Given the description of an element on the screen output the (x, y) to click on. 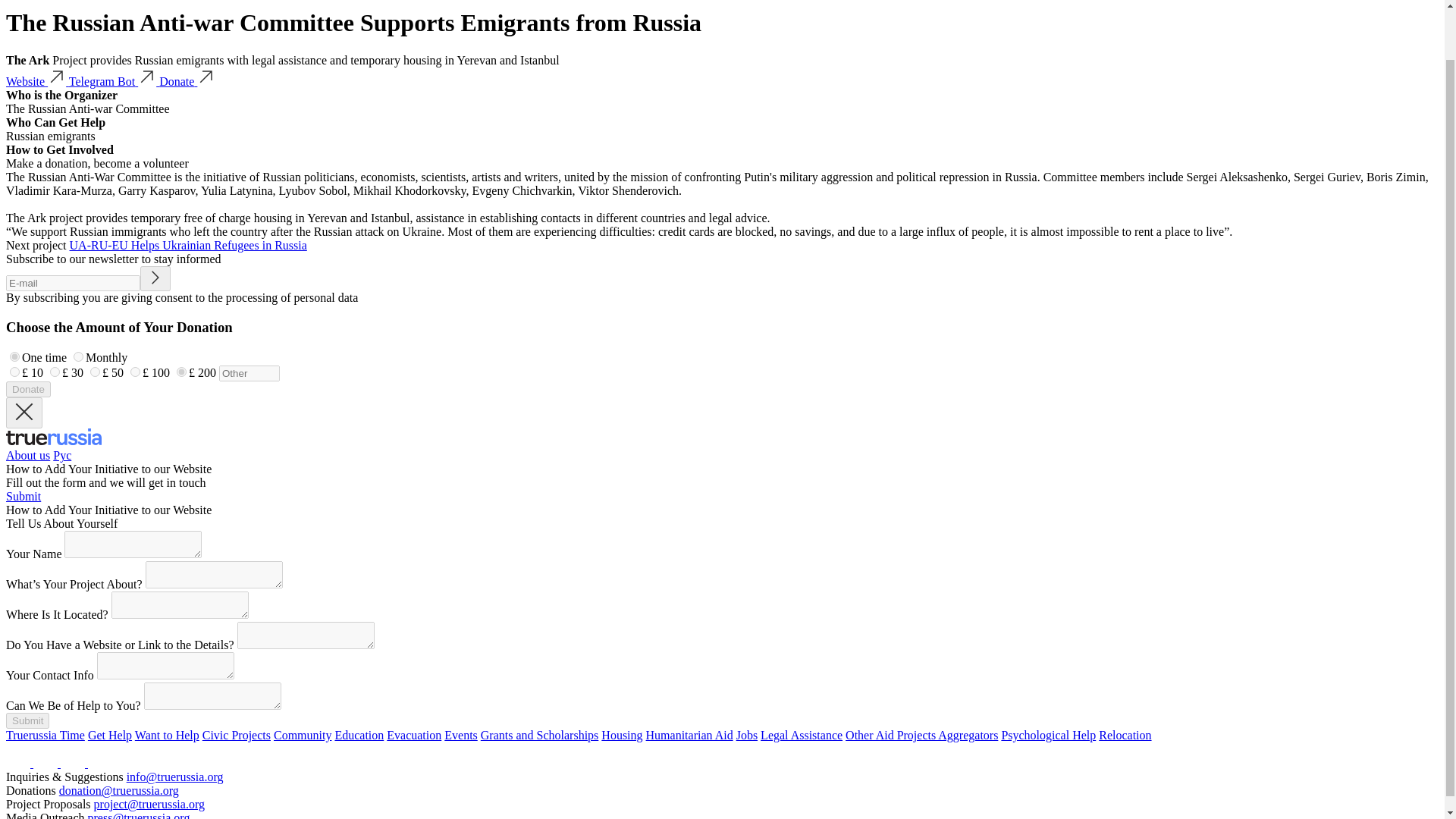
Housing (621, 735)
50 (95, 371)
Truerussia Time (44, 735)
Other Aid Projects Aggregators (921, 735)
200 (181, 371)
Grants and Scholarships (539, 735)
Legal Assistance (801, 735)
UA-RU-EU Helps Ukrainian Refugees in Russia (188, 245)
About us (27, 454)
Website (36, 81)
